Given the description of an element on the screen output the (x, y) to click on. 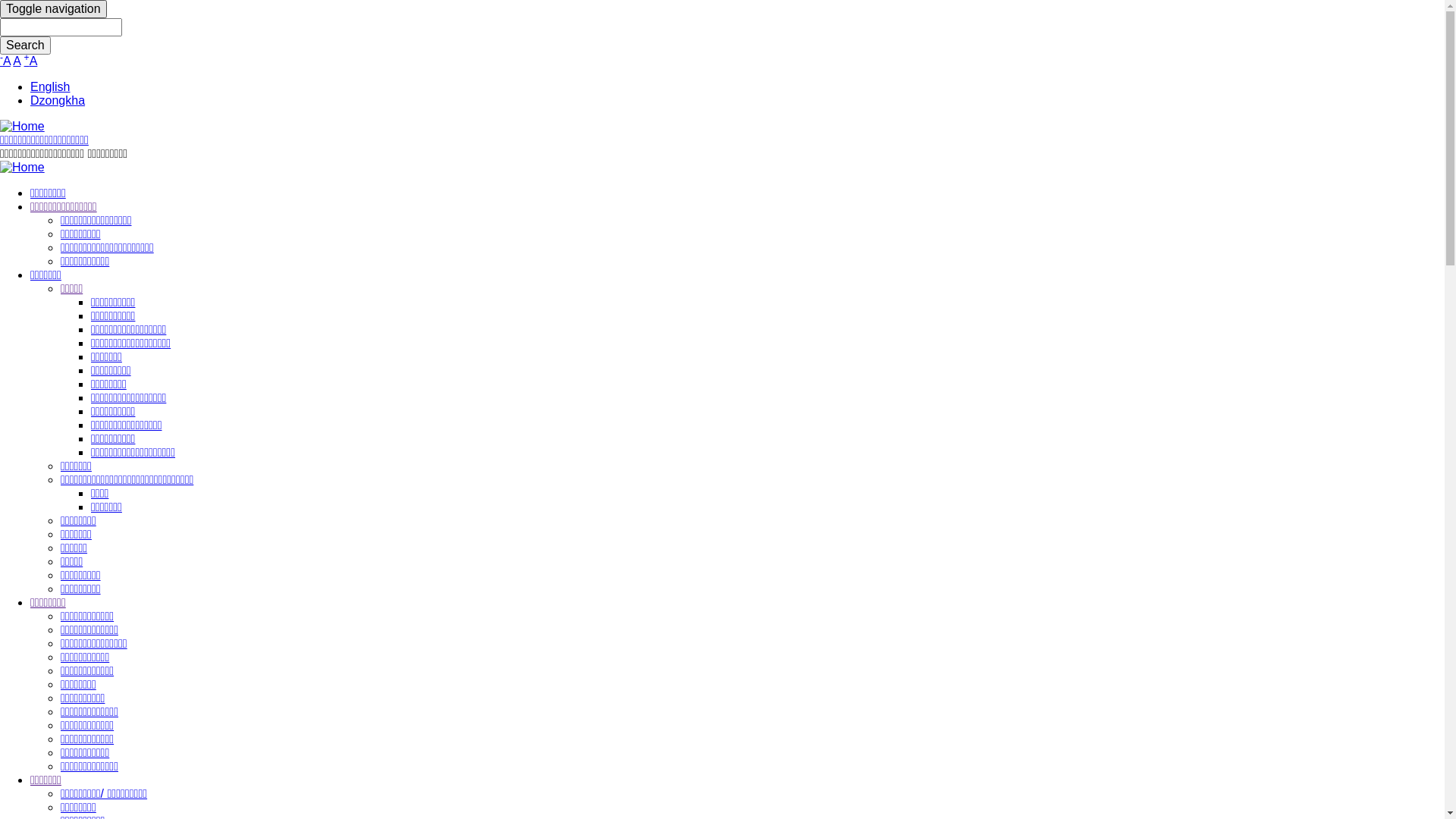
Home Element type: hover (22, 166)
+A Element type: text (30, 60)
Enter the terms you wish to search for. Element type: hover (61, 27)
-A Element type: text (5, 60)
Home Element type: hover (22, 125)
Toggle navigation Element type: text (53, 9)
Search Element type: text (25, 45)
A Element type: text (16, 60)
Skip to main content Element type: text (0, 0)
English Element type: text (49, 86)
Dzongkha Element type: text (57, 100)
